Given the description of an element on the screen output the (x, y) to click on. 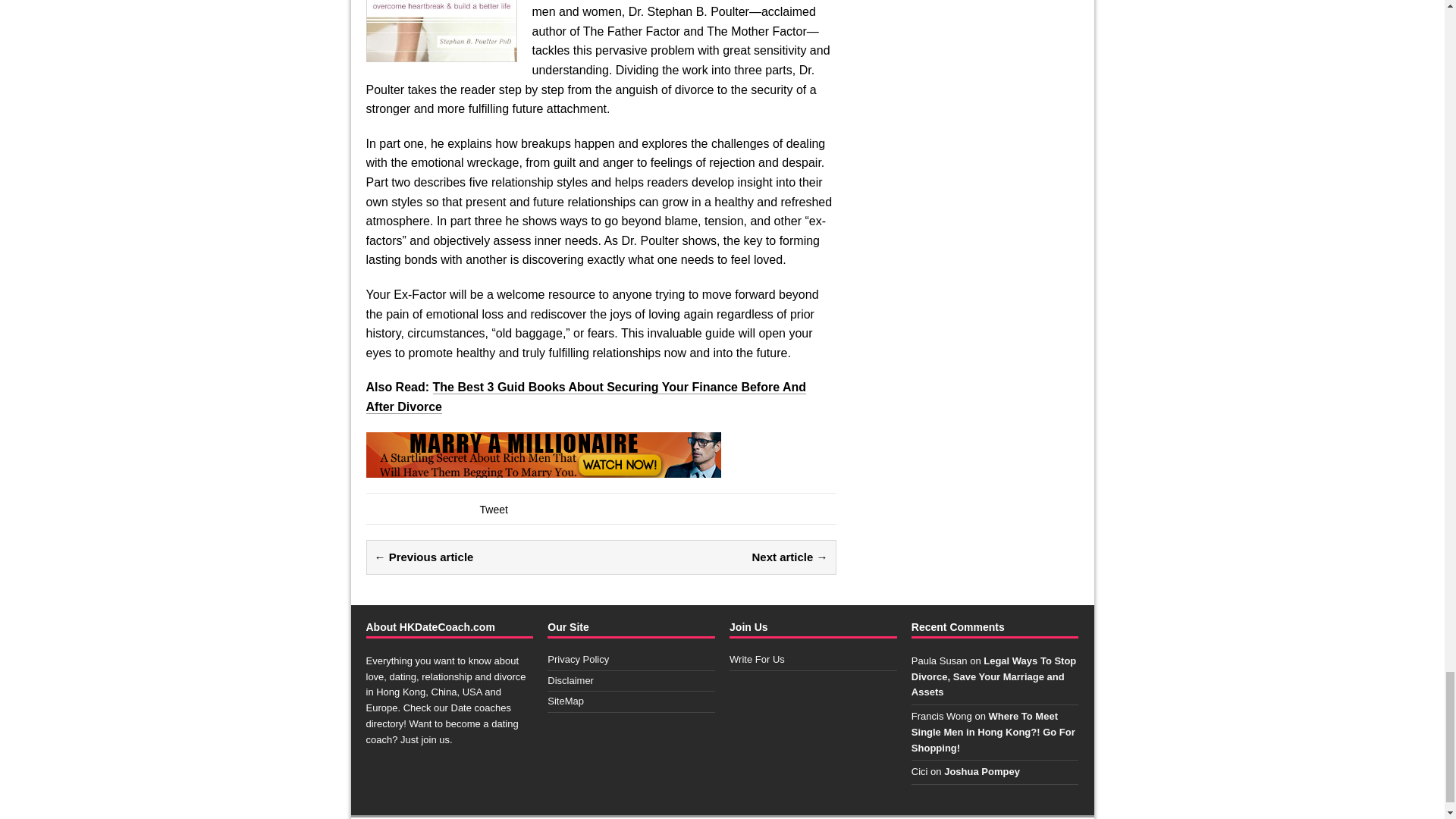
Legal Ways To Stop Divorce, Save Your Marriage and Assets (993, 676)
Privacy Policy (577, 659)
Write For Us (756, 659)
Where To Meet Single Men in Hong Kong?! Go For Shopping! (993, 731)
SiteMap (565, 700)
Joshua Pompey (981, 771)
Disclaimer (570, 680)
Tweet (492, 509)
